Given the description of an element on the screen output the (x, y) to click on. 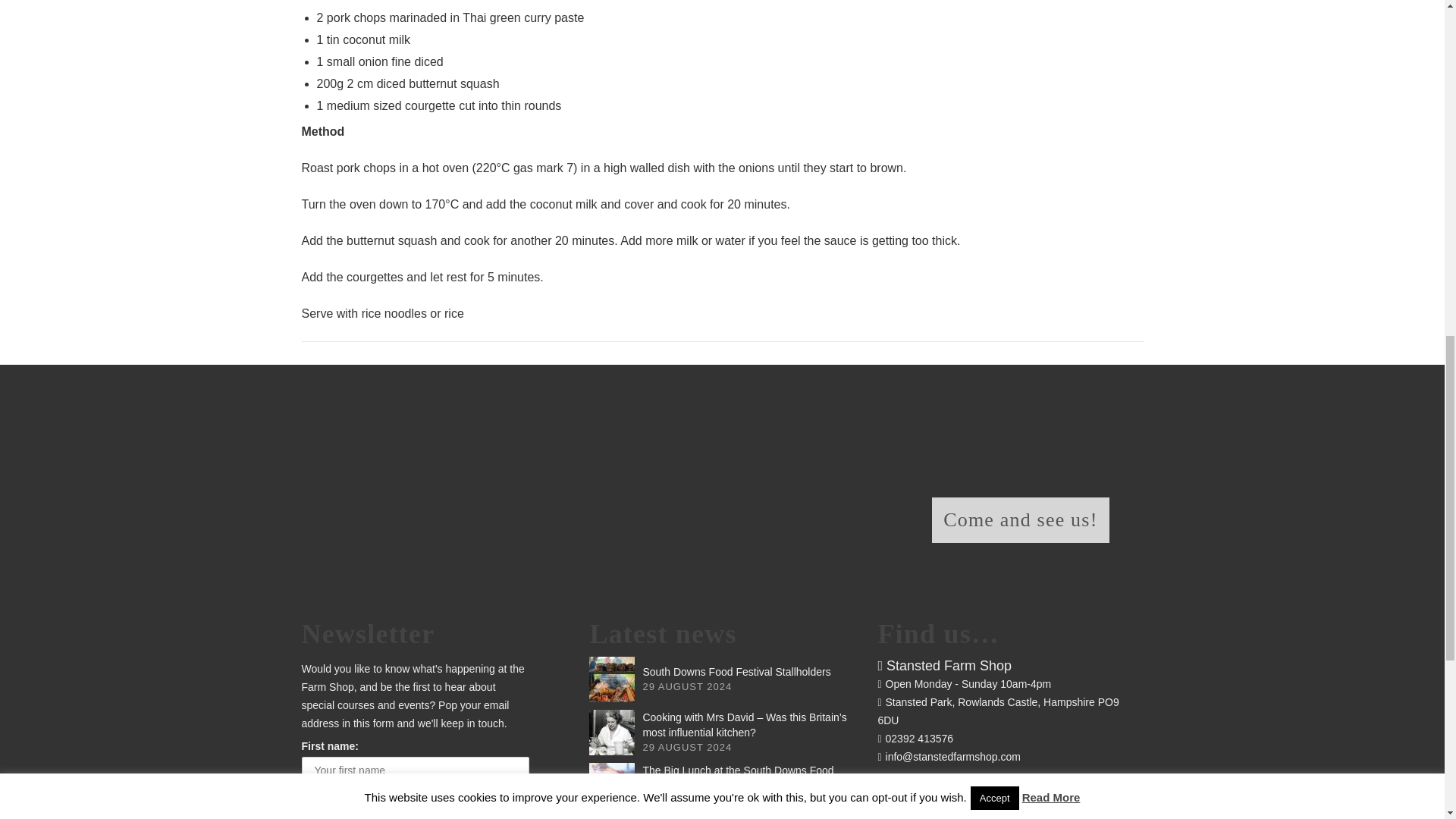
South Downs Food Festival Stallholders (735, 671)
The Big Lunch at the South Downs Food Festival (611, 785)
South Downs Food Festival Stallholders (611, 678)
The Big Lunch at the South Downs Food Festival (737, 777)
Raspberries 3 ways (611, 817)
The Big Lunch at the South Downs Food Festival (737, 777)
South Downs Food Festival Stallholders (735, 671)
